Given the description of an element on the screen output the (x, y) to click on. 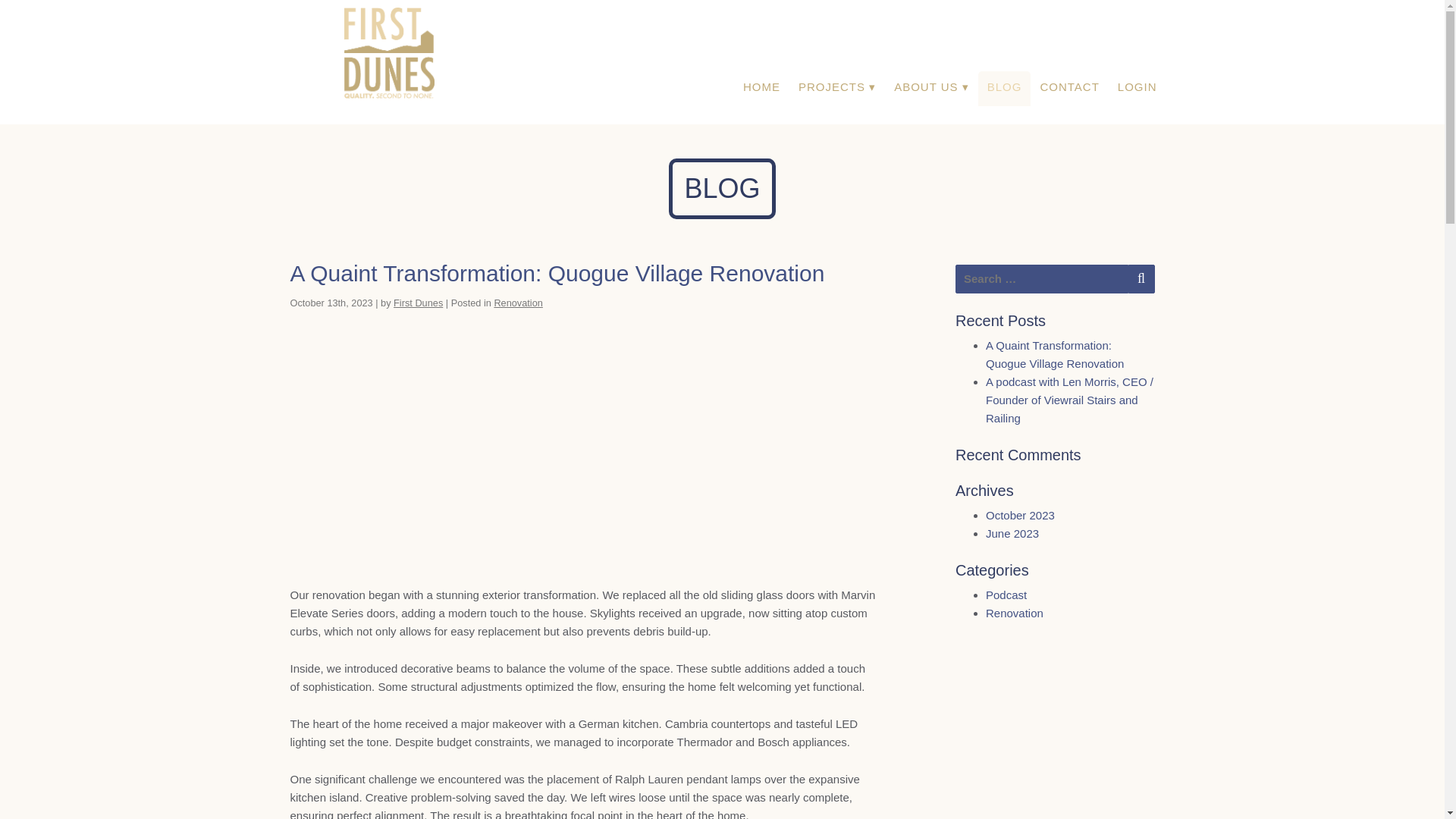
ABOUT US (931, 88)
HOME (761, 88)
Podcast (1005, 594)
LOGIN (1137, 88)
June 2023 (1012, 533)
A Quaint Transformation: Quogue Village Renovation (556, 273)
Renovation (518, 302)
October 2023 (1019, 514)
BLOG (1004, 88)
CONTACT (1069, 88)
First Dunes (417, 302)
PROJECTS (837, 88)
Renovation (1014, 612)
A Quaint Transformation: Quogue Village Renovation (1054, 354)
First Dunes Renovation in Quogue, NY (583, 441)
